Given the description of an element on the screen output the (x, y) to click on. 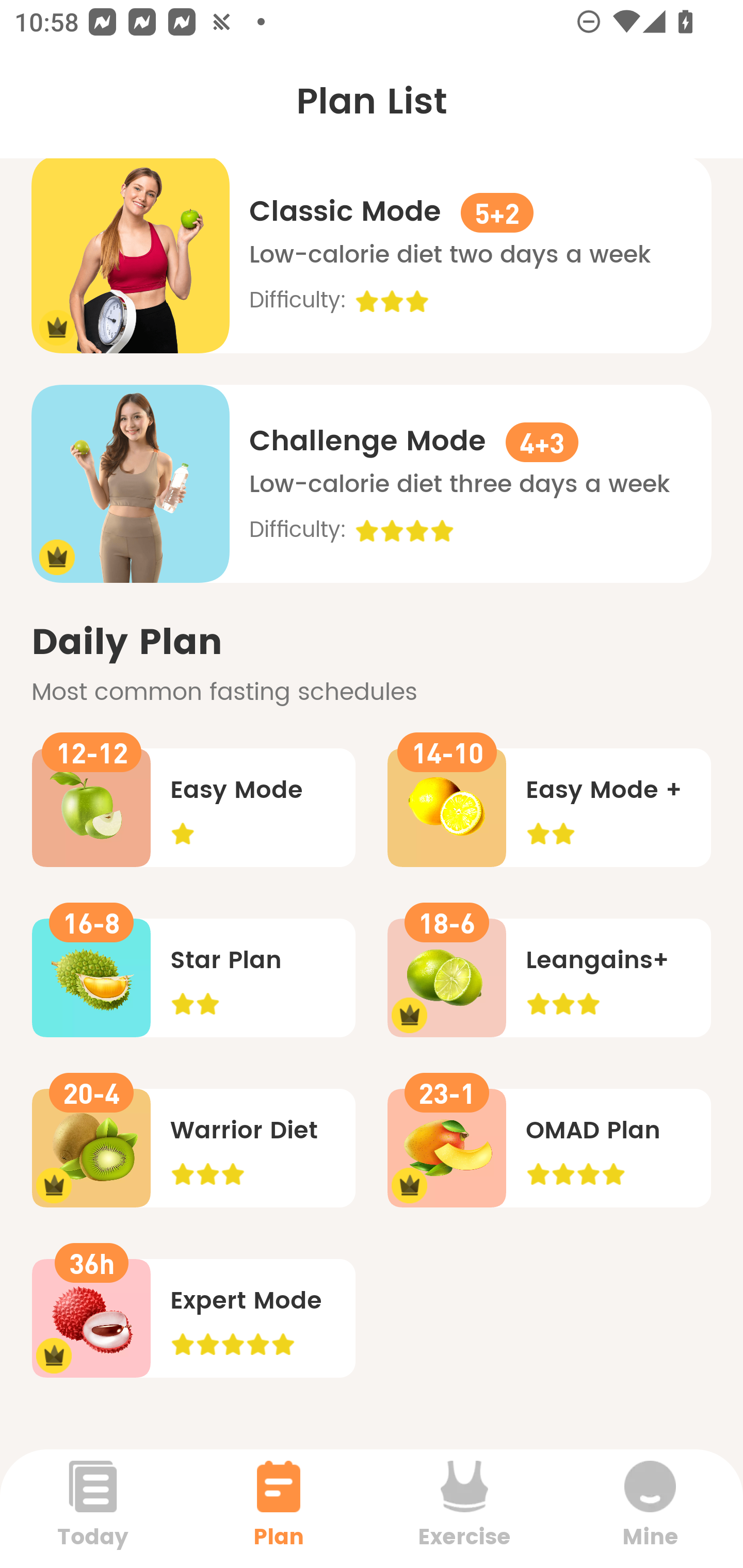
12-12 Easy Mode 1.0 (193, 807)
14-10 Easy Mode + 2.0 (549, 807)
16-8 Star Plan 2.0 (193, 978)
18-6 Leangains+ 3.0 (549, 978)
20-4 Warrior Diet 3.0 (193, 1147)
23-1 OMAD Plan 4.0 (549, 1147)
36h Expert Mode 5.0 (193, 1318)
Today (92, 1508)
Exercise (464, 1508)
Mine (650, 1508)
